Given the description of an element on the screen output the (x, y) to click on. 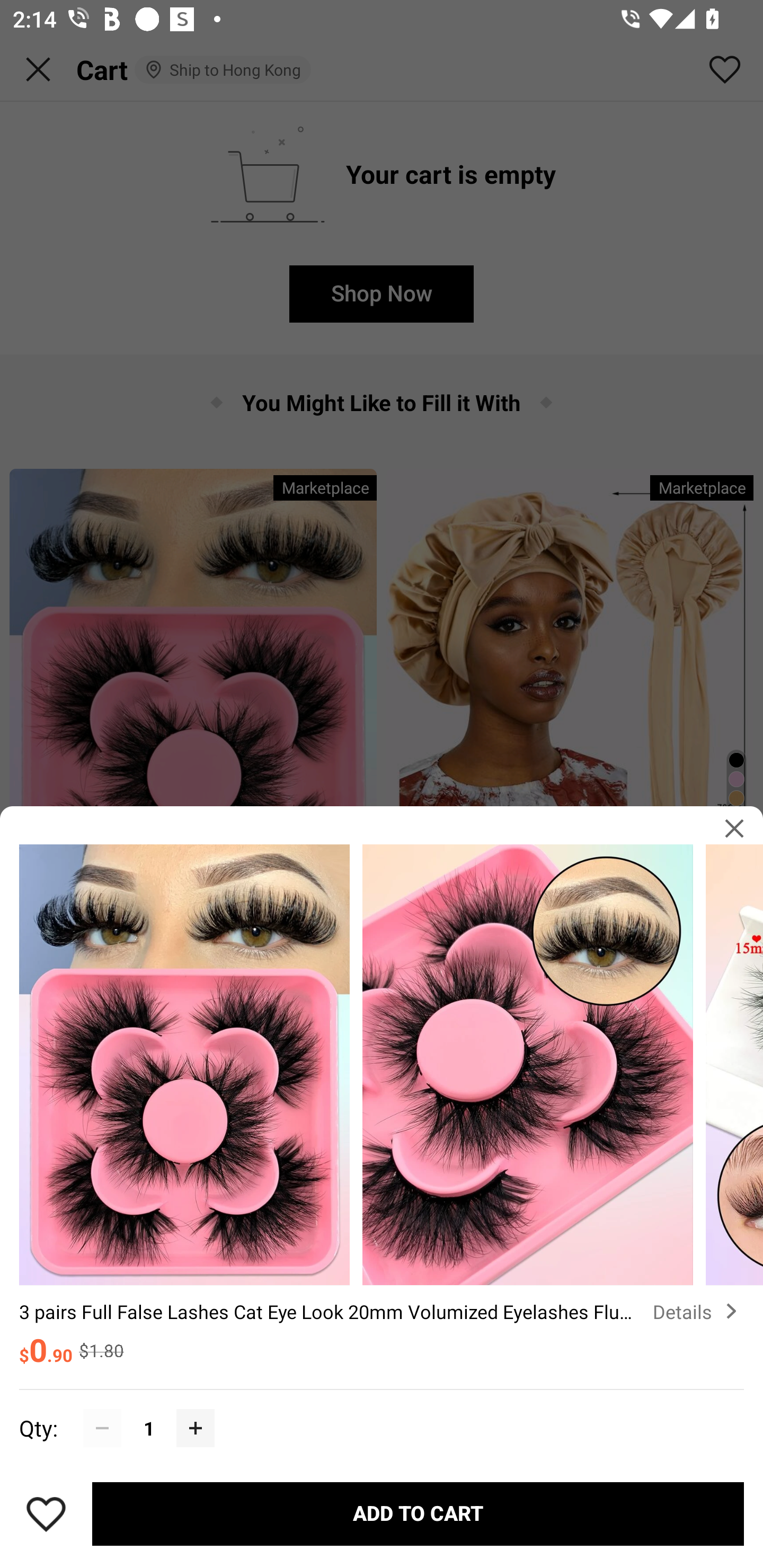
Details (698, 1311)
ADD TO CART (417, 1513)
Save (46, 1513)
